Given the description of an element on the screen output the (x, y) to click on. 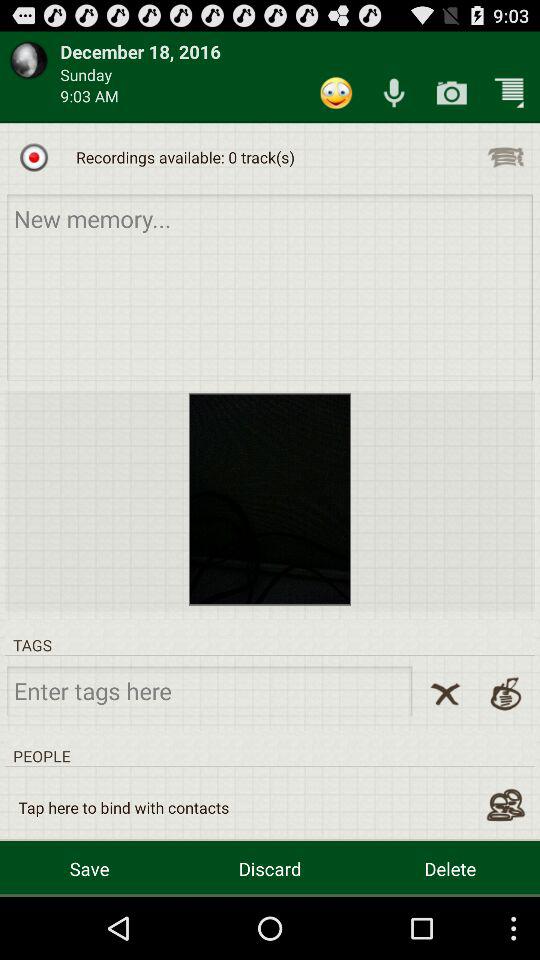
tap icon above the recordings available 0 icon (394, 92)
